Given the description of an element on the screen output the (x, y) to click on. 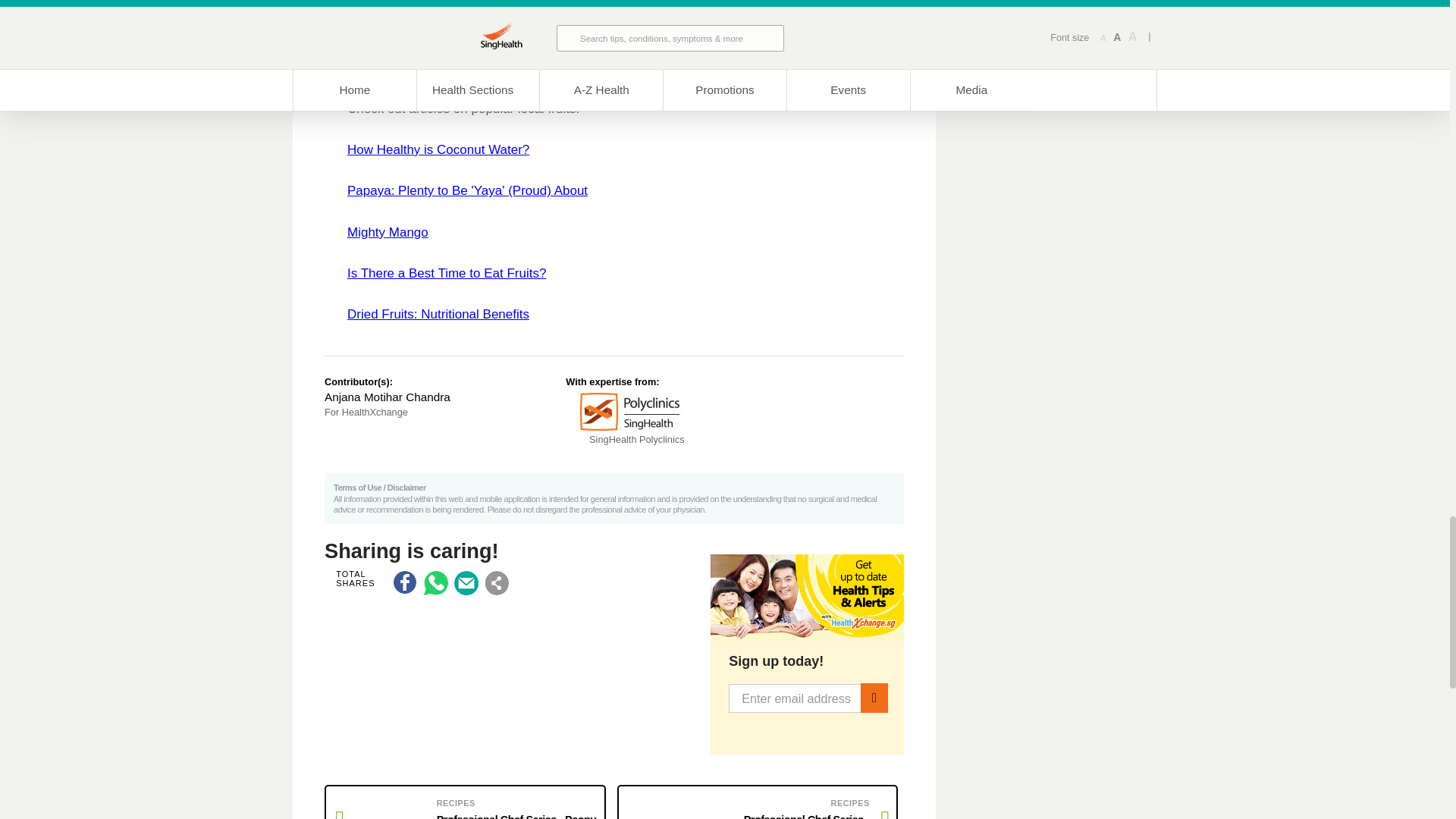
Should Fruit Be Eaten Before or After Meals? (446, 273)
Mighty Mango: Benefits, Nutrition and Ways to Enjoy It (387, 232)
WhatsApp (435, 582)
Email Us (466, 582)
Facebook (405, 582)
Going Nuts About Coconut (438, 149)
Share this Page (496, 582)
Dried Fruits: Nutritional Benefits (438, 314)
